Given the description of an element on the screen output the (x, y) to click on. 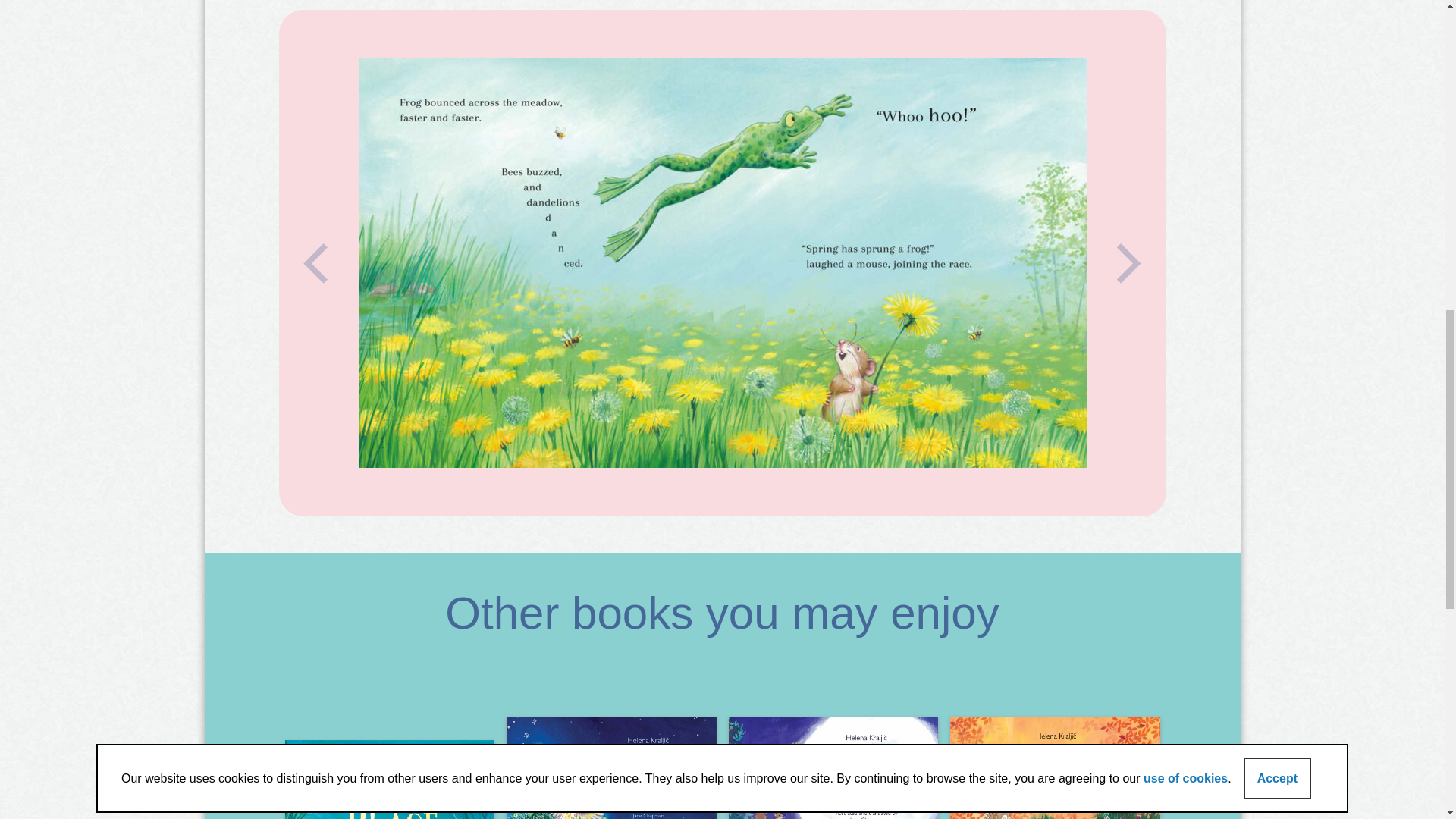
The Secret of the Full Moon (832, 767)
Christmas in the Forest (611, 767)
Badger the Expert (1055, 767)
